Given the description of an element on the screen output the (x, y) to click on. 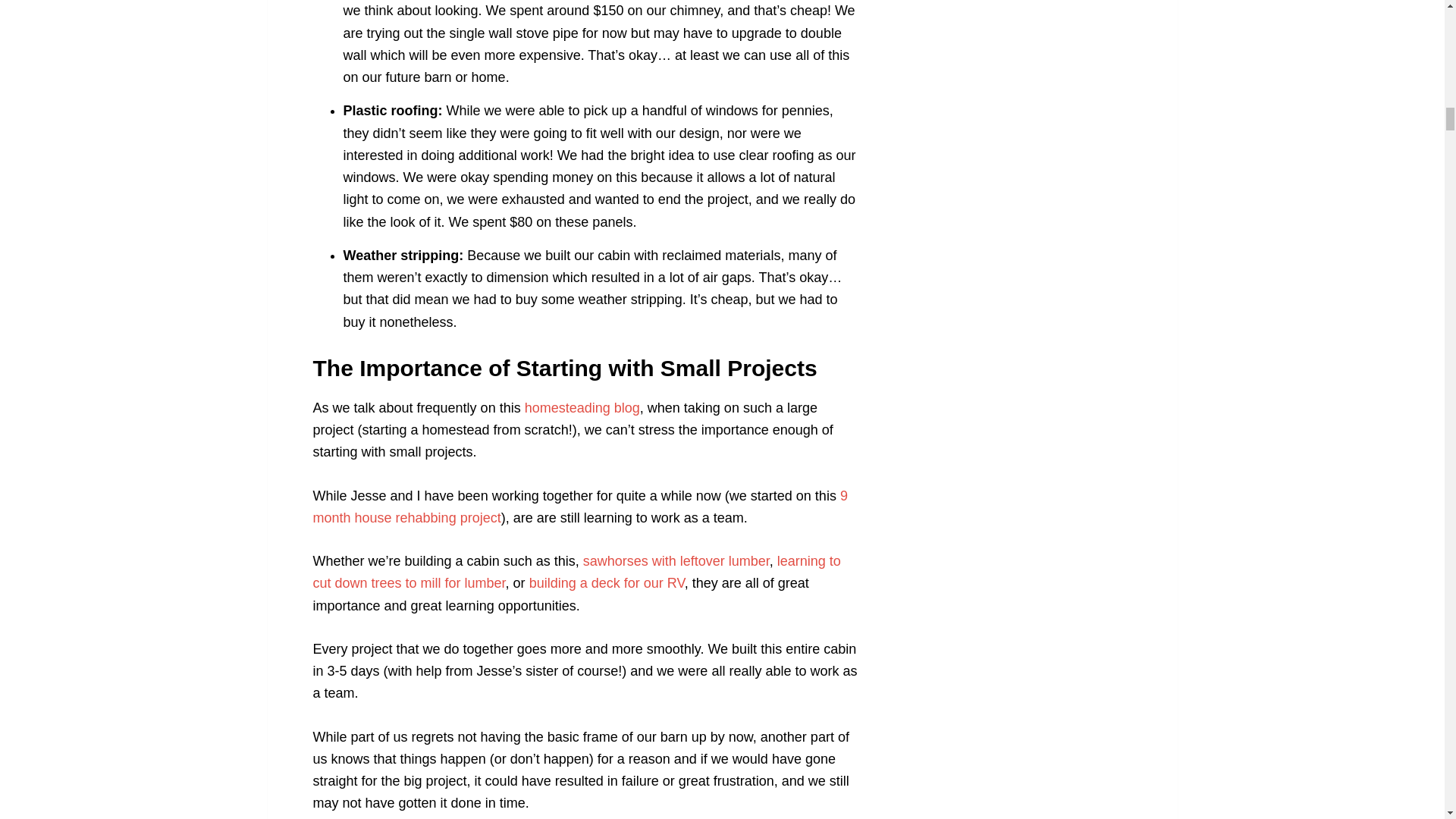
9 month house rehabbing project (580, 506)
building a deck for our RV (606, 582)
sawhorses with leftover lumber (676, 560)
homesteading blog (582, 407)
learning to cut down trees to mill for lumber (576, 571)
